Given the description of an element on the screen output the (x, y) to click on. 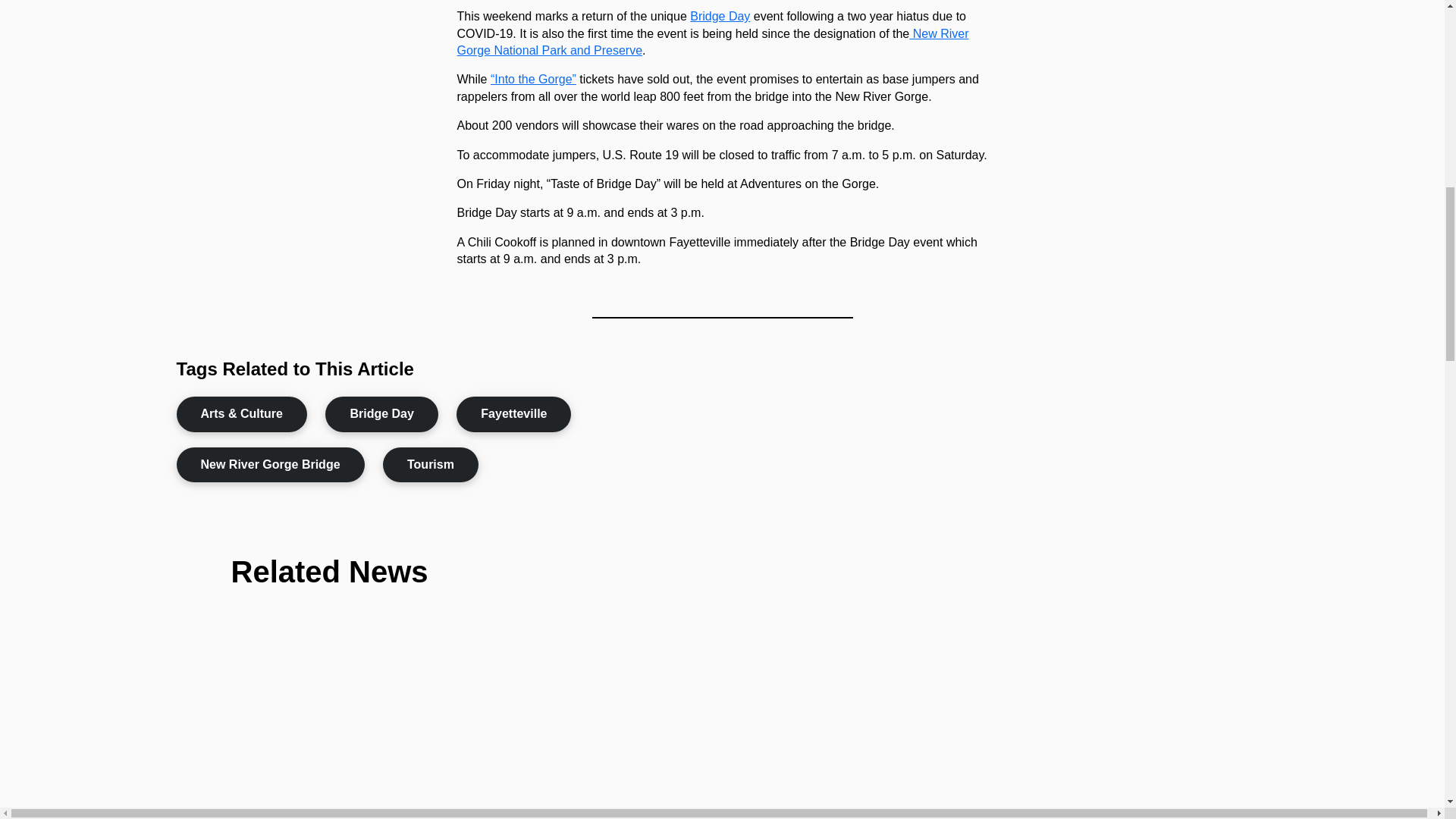
Fayetteville (513, 413)
New River Gorge Bridge (270, 464)
Bridge Day (381, 413)
Tourism (430, 464)
